Given the description of an element on the screen output the (x, y) to click on. 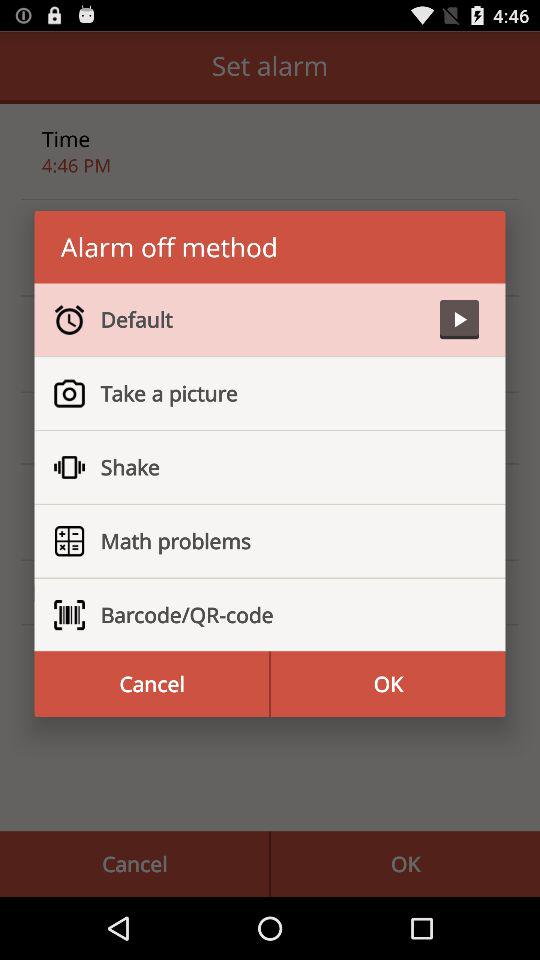
choose shake item (281, 467)
